Given the description of an element on the screen output the (x, y) to click on. 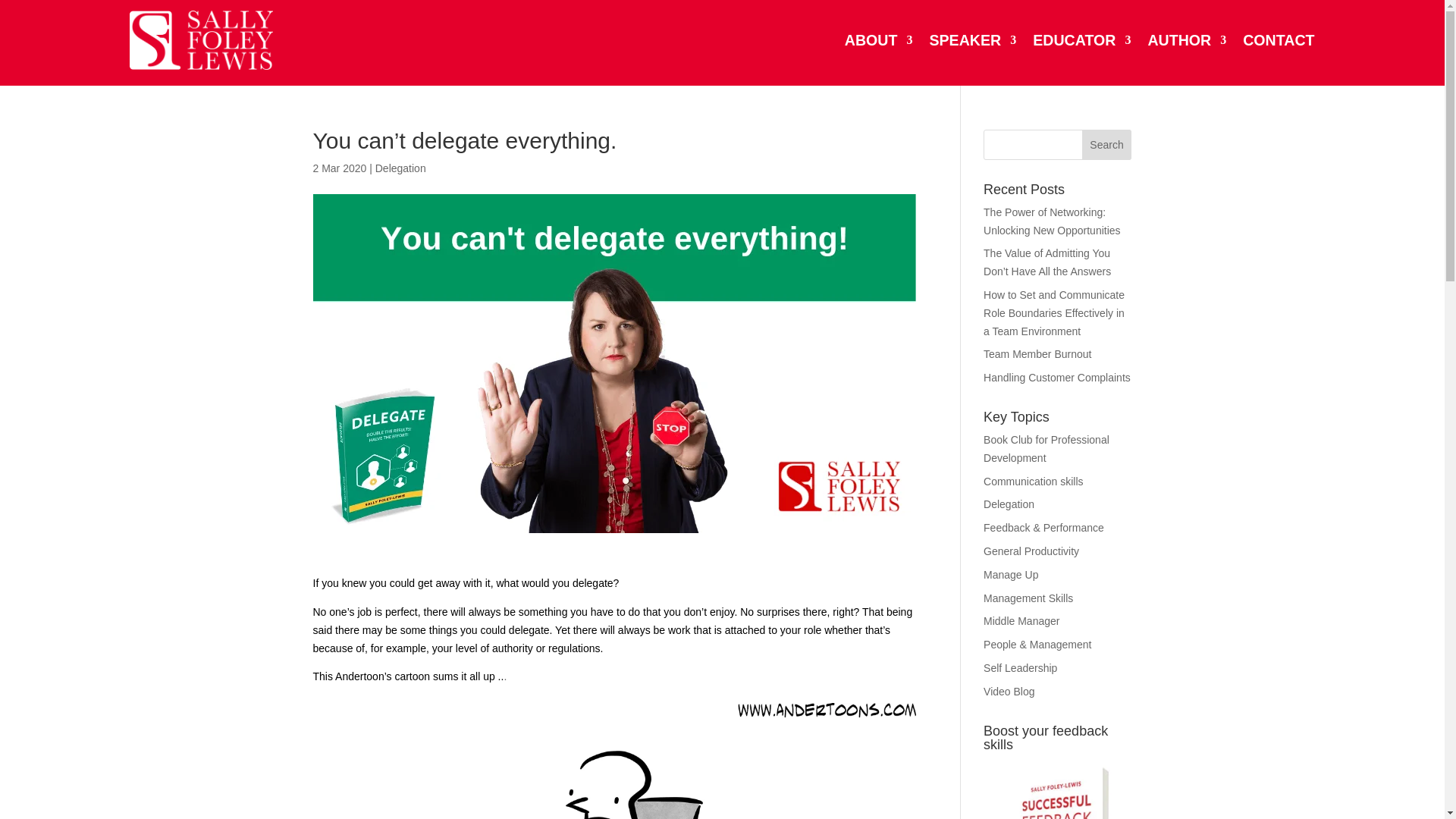
EDUCATOR (1081, 39)
ABOUT (878, 39)
CONTACT (1278, 39)
Search (1106, 144)
AUTHOR (1186, 39)
SPEAKER (972, 39)
